Given the description of an element on the screen output the (x, y) to click on. 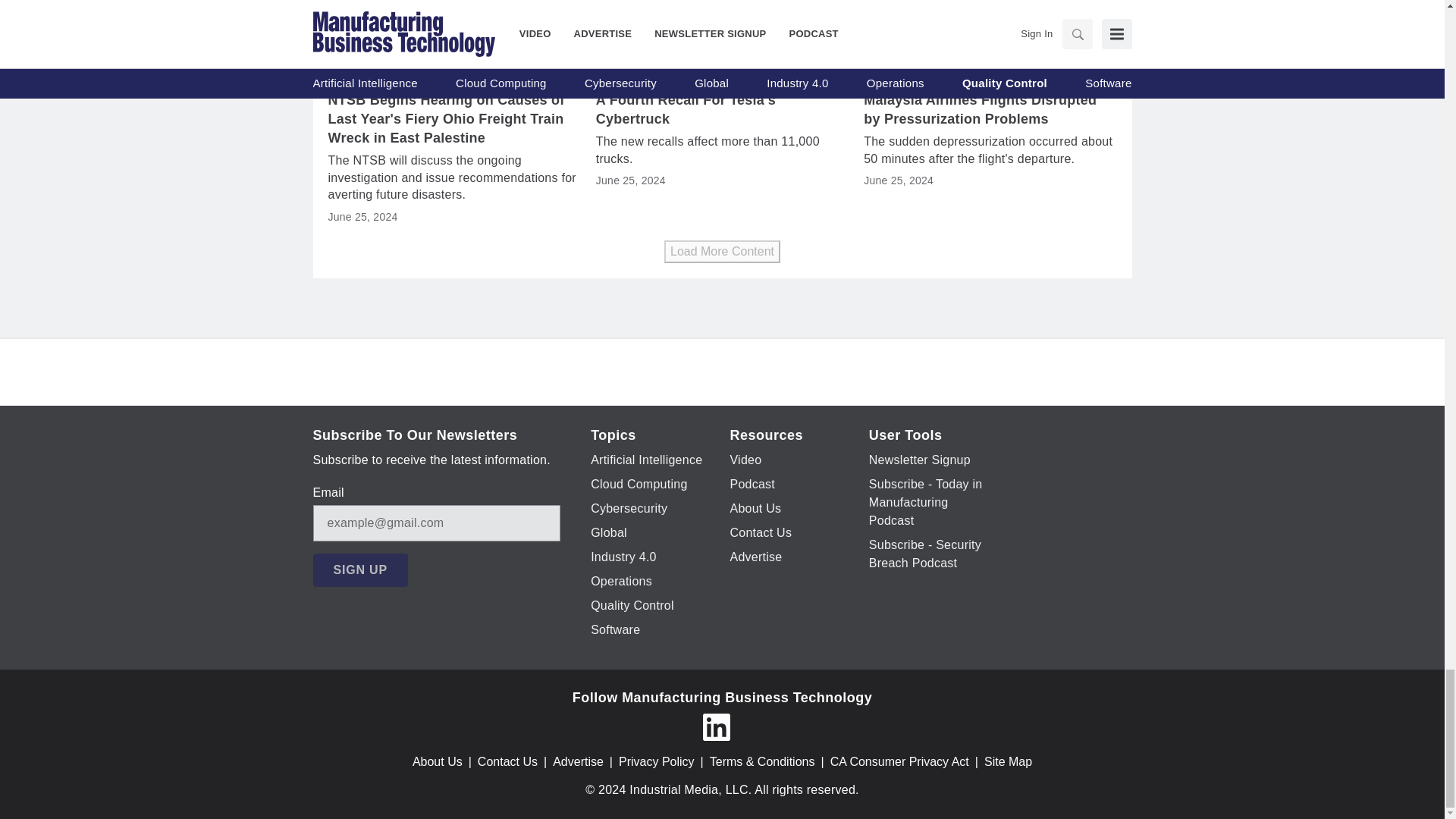
LinkedIn icon (715, 727)
